Given the description of an element on the screen output the (x, y) to click on. 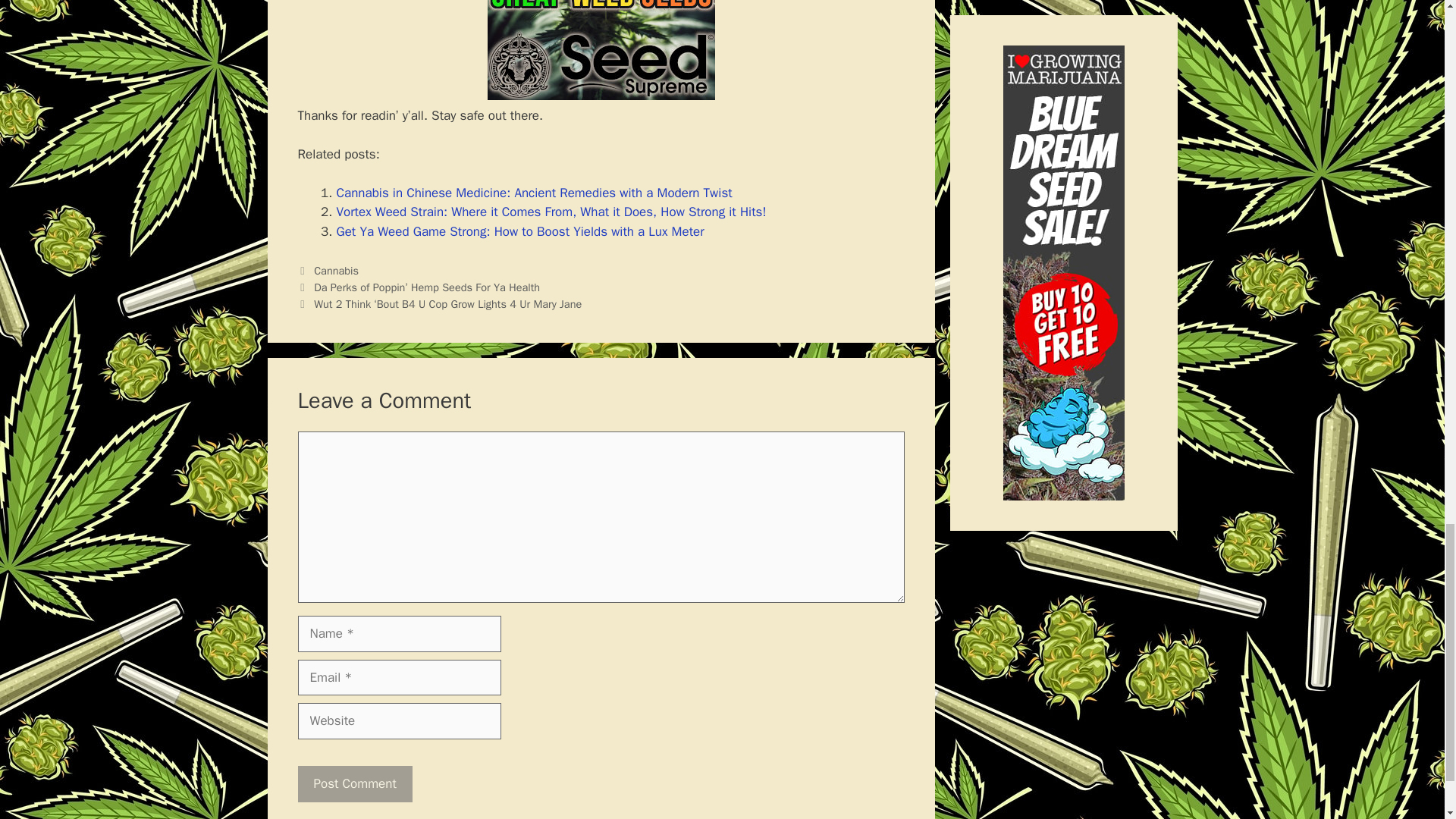
Cannabis (336, 270)
Post Comment (354, 783)
Post Comment (354, 783)
